Given the description of an element on the screen output the (x, y) to click on. 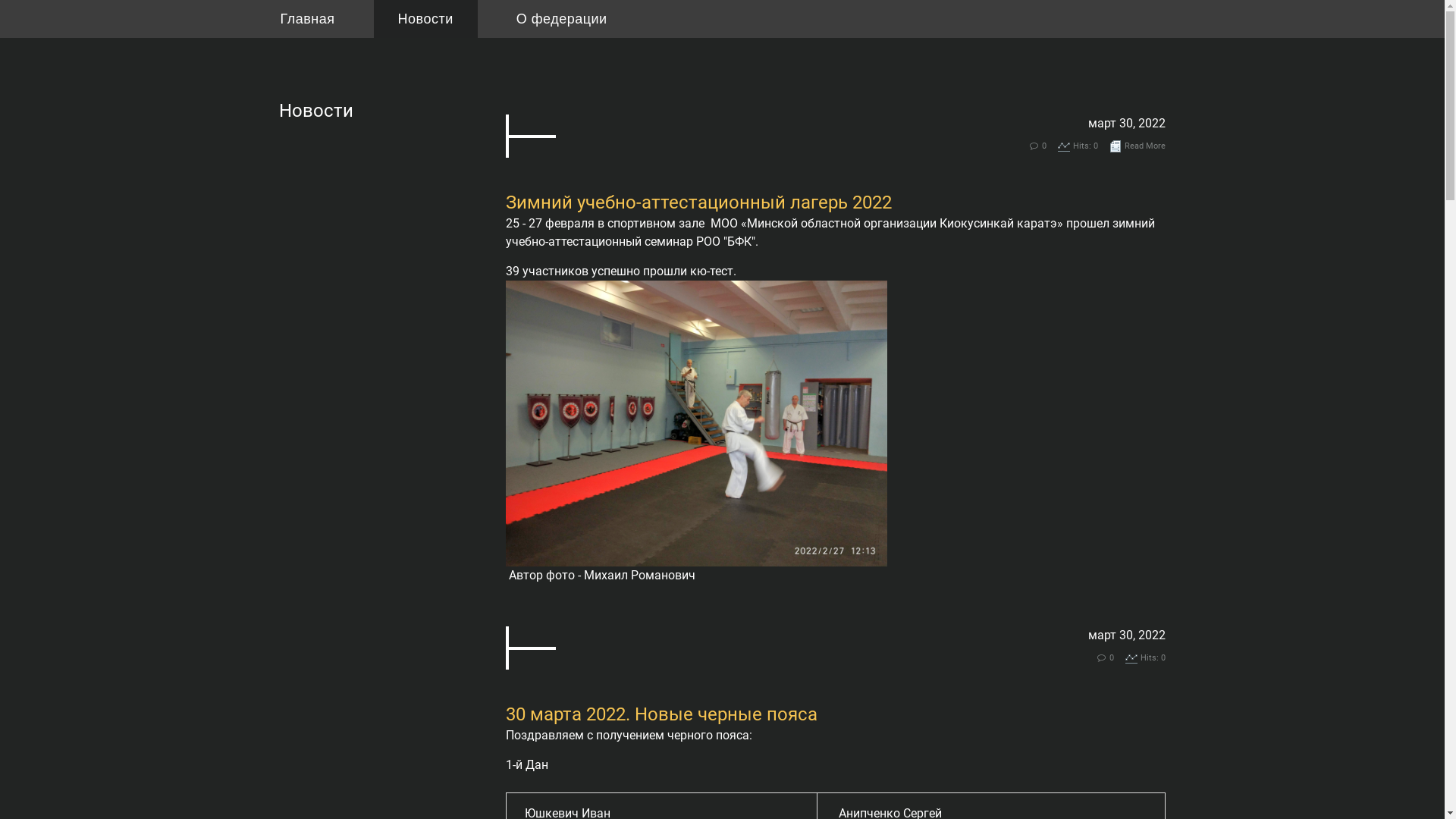
0 Element type: text (1043, 145)
0 Element type: text (1111, 657)
Read More Element type: text (1144, 145)
